Given the description of an element on the screen output the (x, y) to click on. 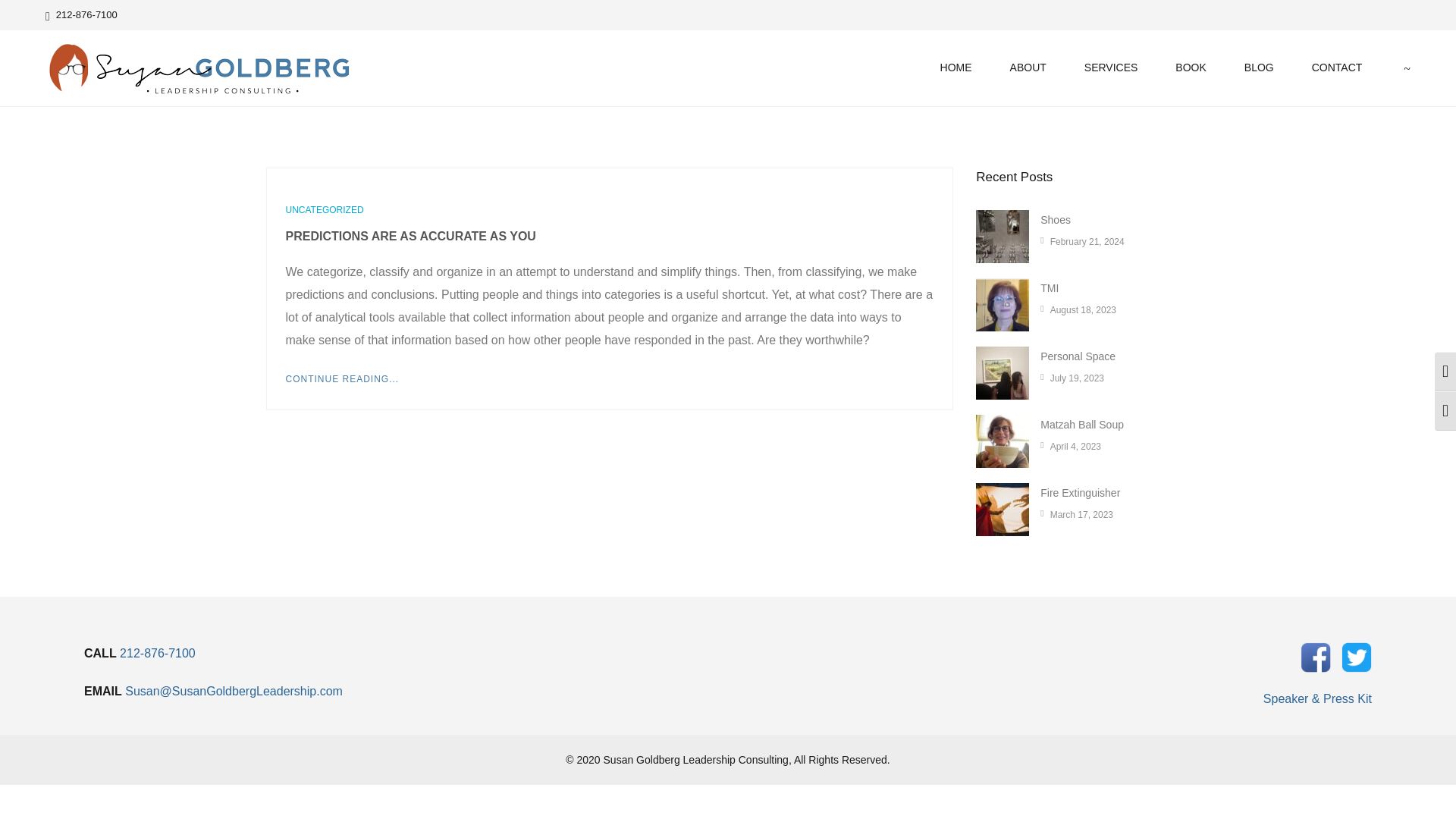
UNCATEGORIZED (323, 209)
ABOUT (1028, 66)
212-876-7100 (81, 14)
Fire Extinguisher (1080, 492)
Personal Space (1078, 356)
PREDICTIONS ARE AS ACCURATE AS YOU (410, 236)
TMI (1049, 287)
HOME (956, 66)
CONTACT (1337, 66)
Matzah Ball Soup (1082, 424)
Shoes (1055, 219)
212-876-7100 (157, 652)
CONTINUE READING... (341, 378)
BLOG (1259, 66)
BOOK (1190, 66)
